Given the description of an element on the screen output the (x, y) to click on. 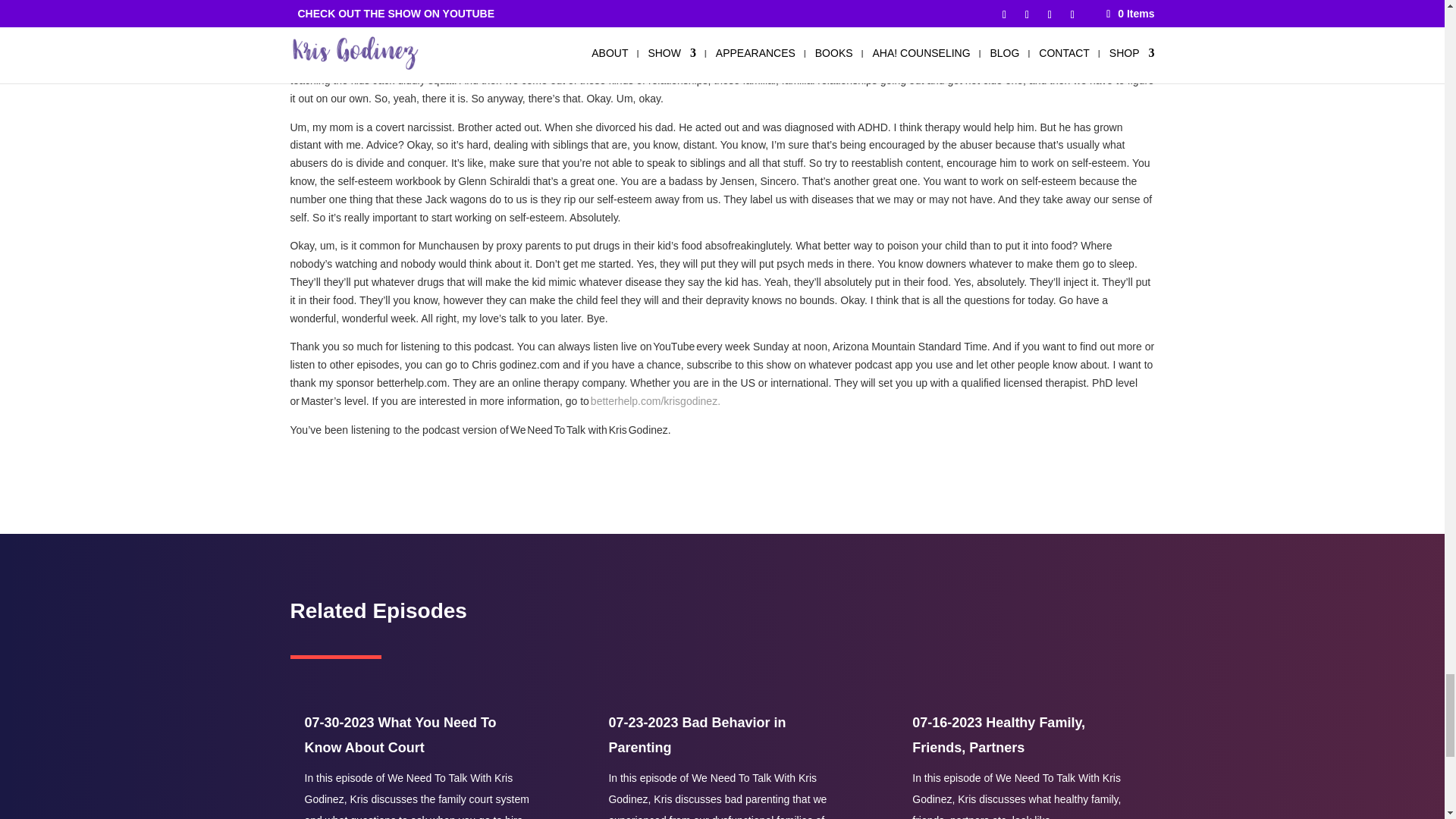
07-23-2023 Bad Behavior in Parenting (697, 734)
07-16-2023 Healthy Family, Friends, Partners (998, 734)
07-30-2023 What You Need To Know About Court (400, 734)
